Given the description of an element on the screen output the (x, y) to click on. 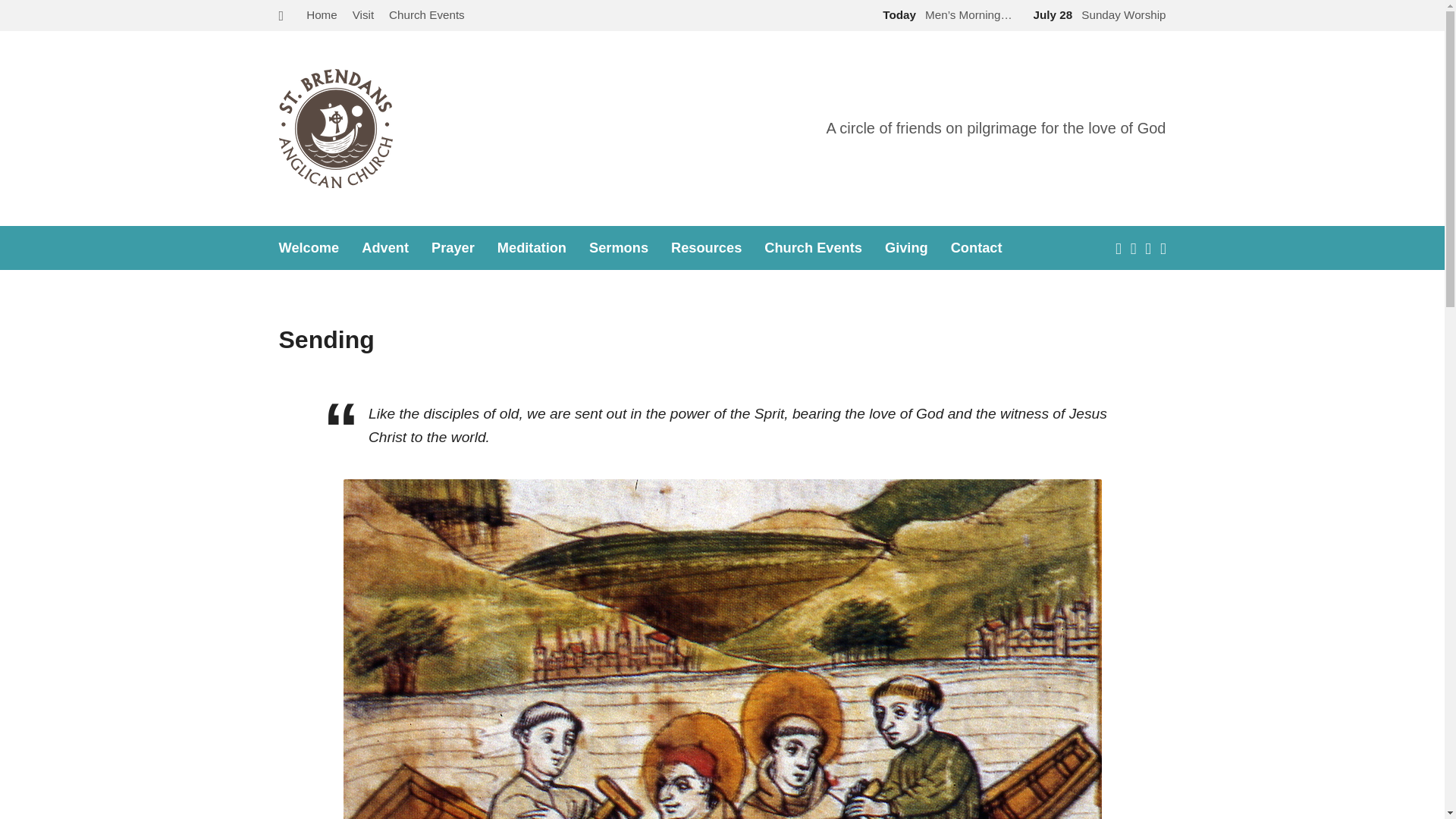
Sunday Worship (1096, 14)
Home (321, 14)
Visit (363, 14)
Sermons (618, 247)
Church Events (426, 14)
Resources (706, 247)
Prayer (452, 247)
Welcome (309, 247)
Advent (385, 247)
Meditation (531, 247)
July 28 Sunday Worship (1096, 14)
